Given the description of an element on the screen output the (x, y) to click on. 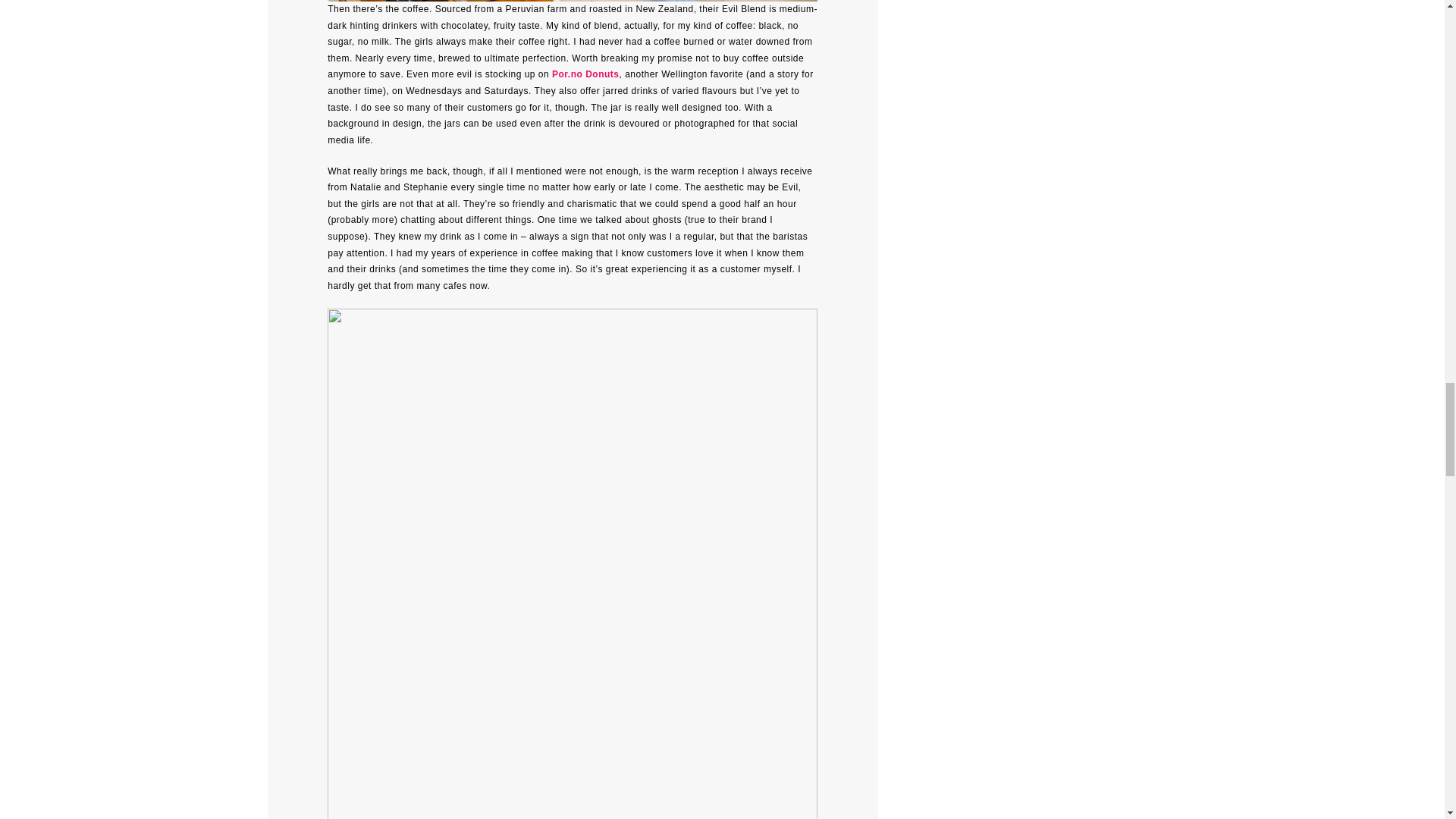
Por.no Donuts (585, 73)
